Given the description of an element on the screen output the (x, y) to click on. 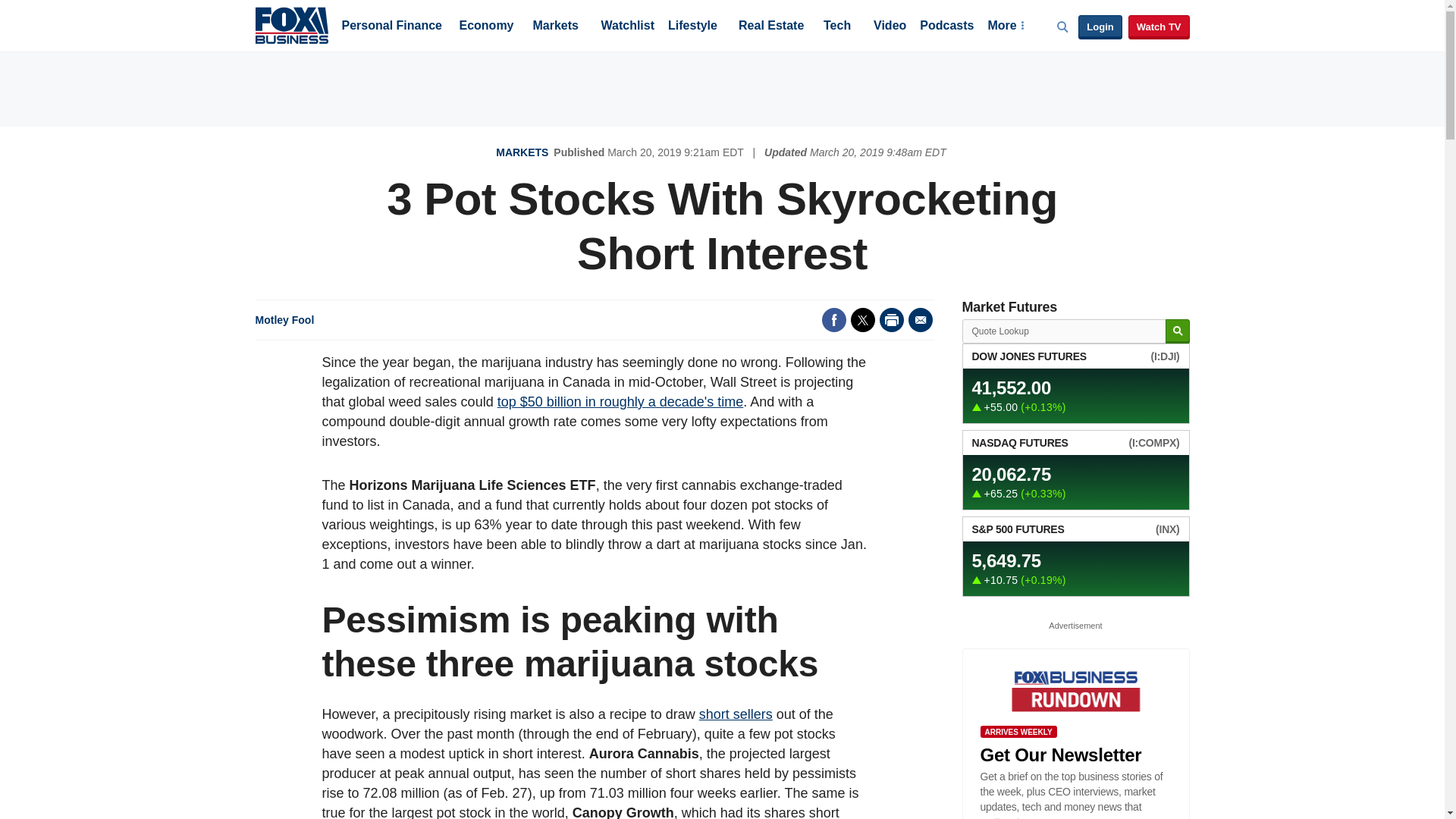
Watchlist (626, 27)
Login (1099, 27)
Fox Business (290, 24)
Podcasts (947, 27)
Search (1176, 331)
Real Estate (770, 27)
Video (889, 27)
Personal Finance (391, 27)
Markets (555, 27)
Search (1176, 331)
Tech (837, 27)
Economy (486, 27)
More (1005, 27)
Lifestyle (692, 27)
Watch TV (1158, 27)
